Given the description of an element on the screen output the (x, y) to click on. 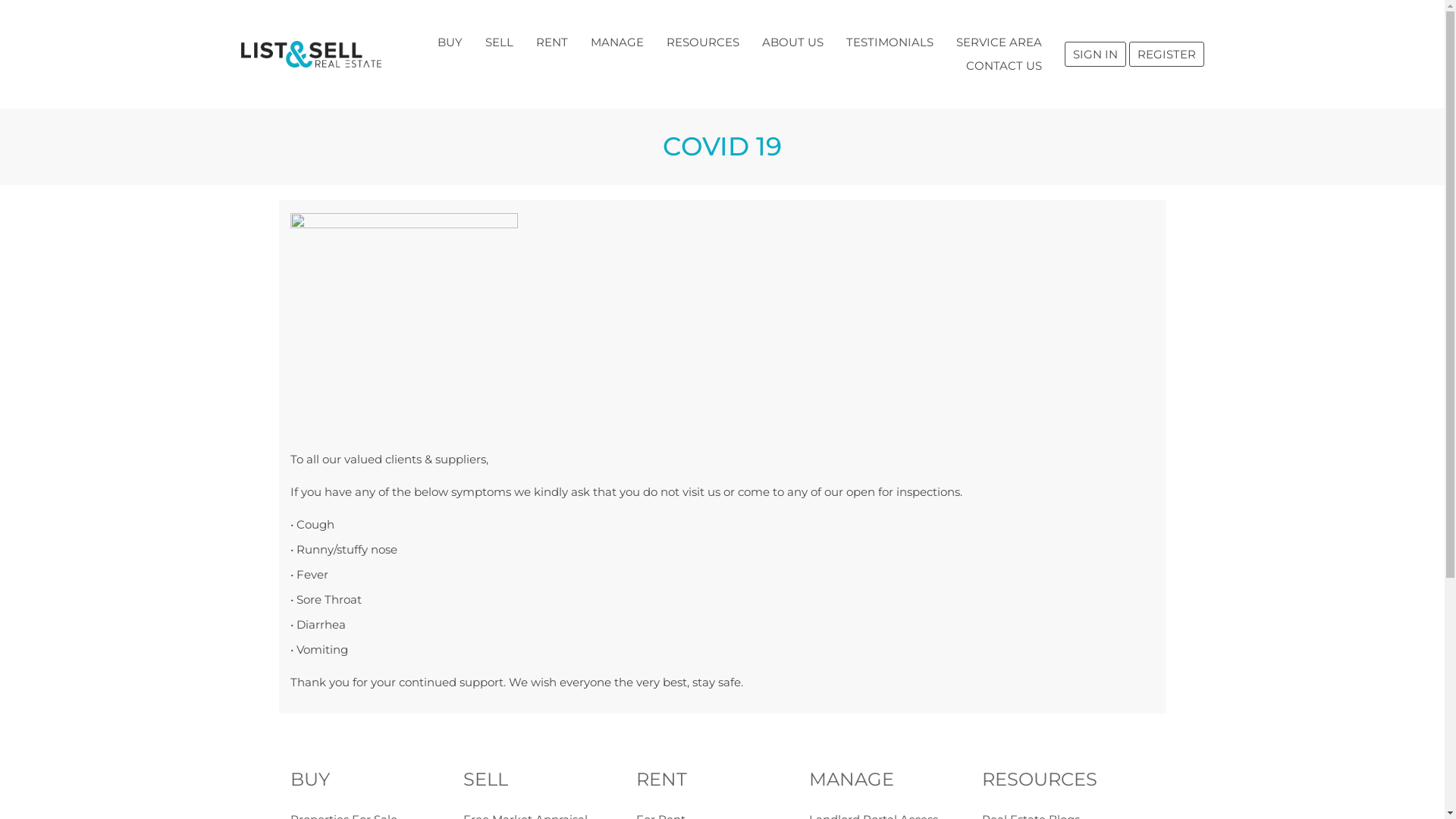
REGISTER Element type: text (1165, 53)
MANAGE Element type: text (617, 41)
BUY Element type: text (449, 41)
TESTIMONIALS Element type: text (889, 41)
SELL Element type: text (548, 779)
ABOUT US Element type: text (792, 41)
MANAGE Element type: text (894, 779)
SELL Element type: text (498, 41)
RENT Element type: text (721, 779)
SERVICE AREA Element type: text (998, 41)
CONTACT US Element type: text (1002, 65)
RENT Element type: text (551, 41)
RESOURCES Element type: text (702, 41)
SIGN IN Element type: text (1095, 53)
BUY Element type: text (375, 779)
RESOURCES Element type: text (1067, 779)
